Given the description of an element on the screen output the (x, y) to click on. 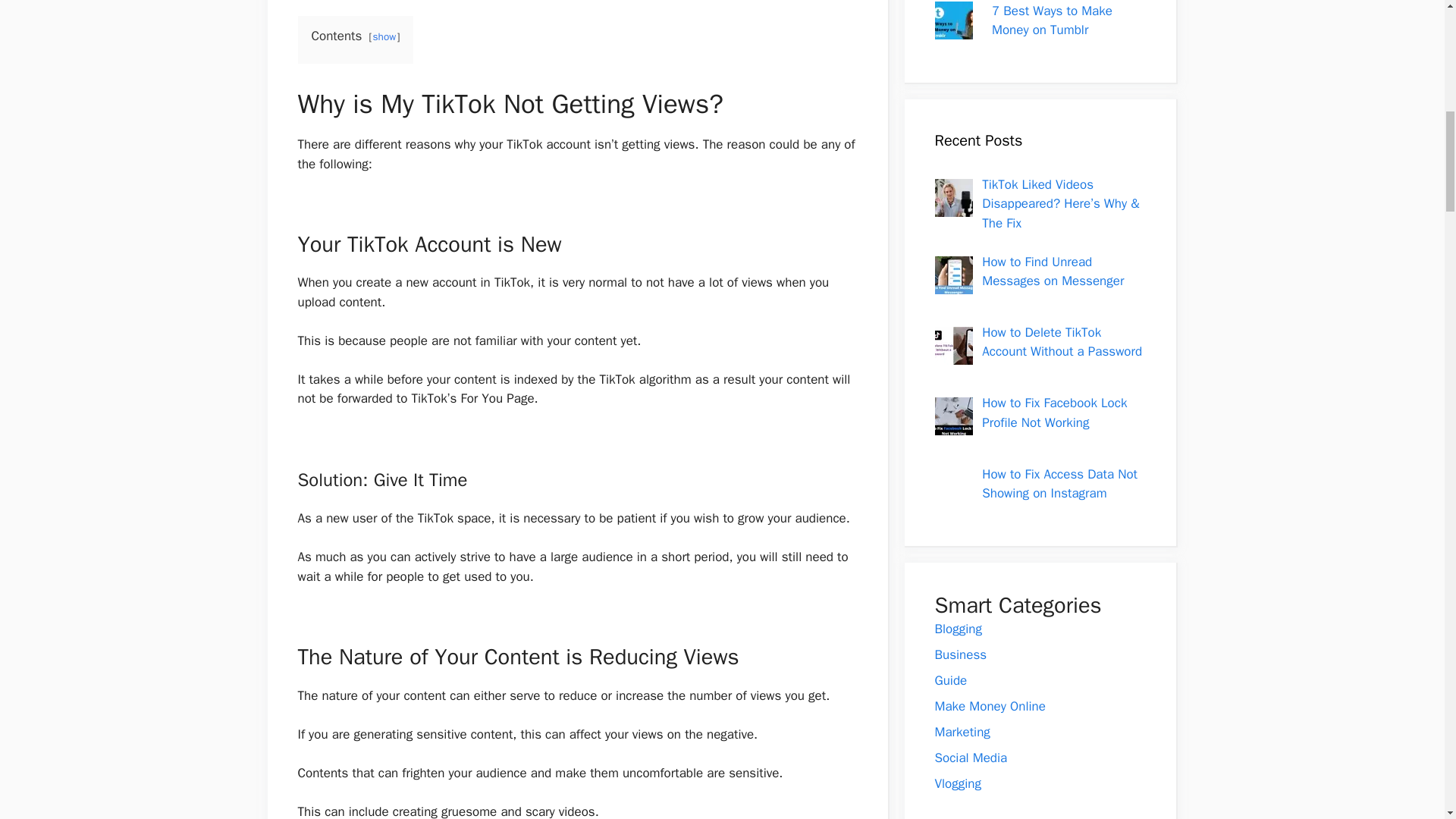
7 Best Ways to Make Money on Tumblr (953, 28)
show (384, 36)
